Given the description of an element on the screen output the (x, y) to click on. 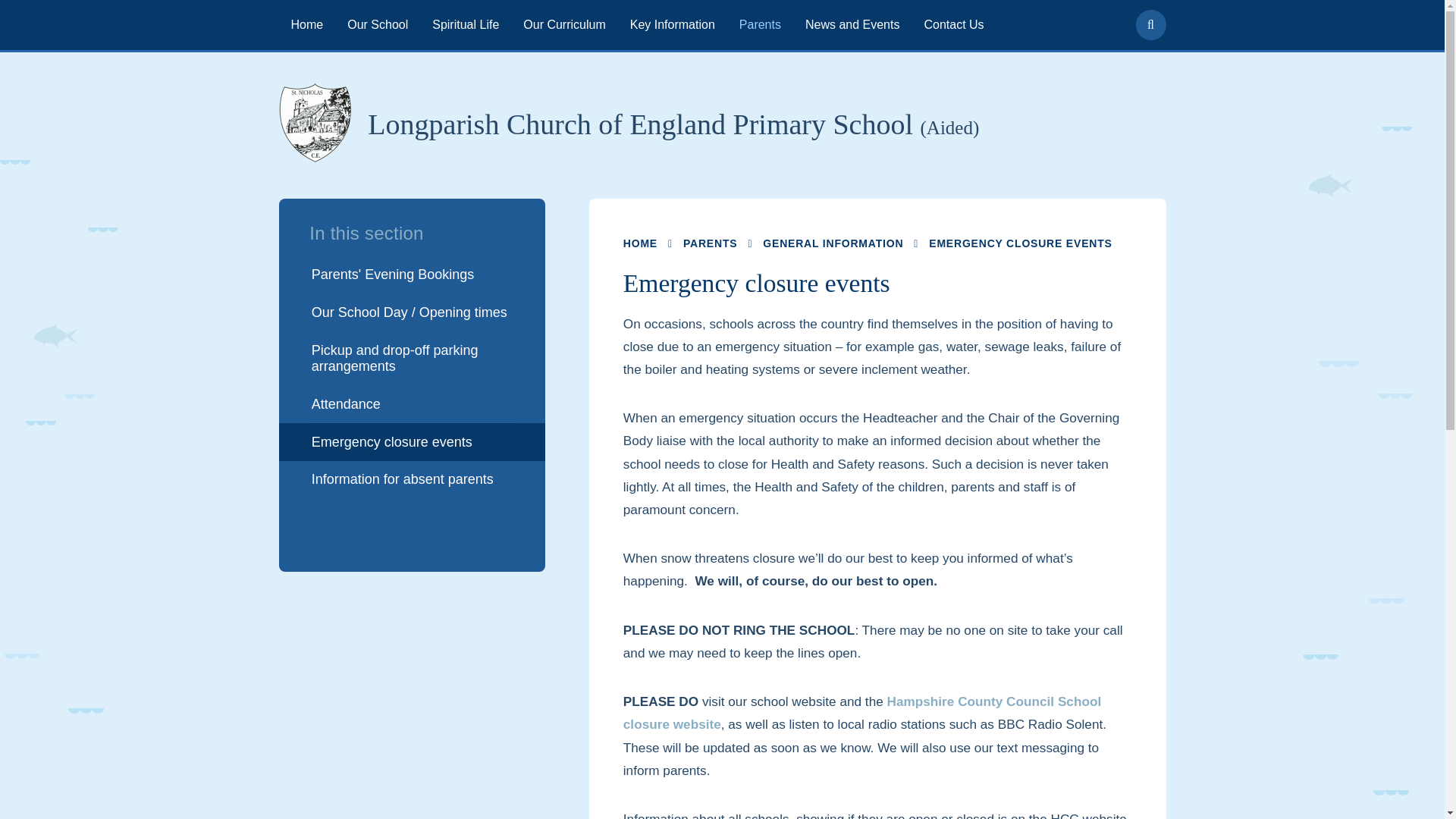
Spiritual Life (465, 24)
Our Curriculum (564, 24)
Key Information (671, 24)
Our School (377, 24)
Home (307, 24)
